Given the description of an element on the screen output the (x, y) to click on. 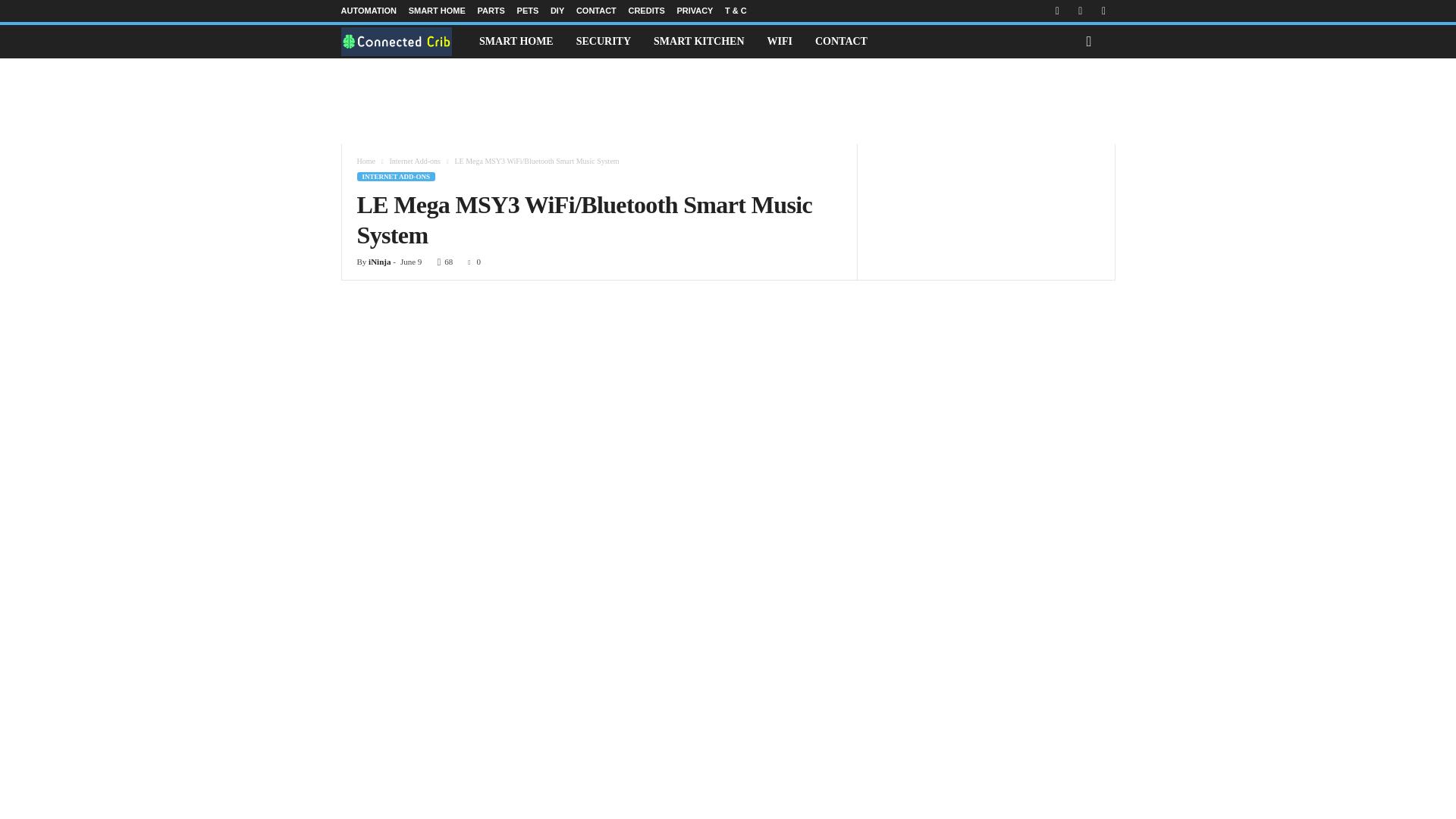
SMART HOME (437, 10)
DIY (557, 10)
PARTS (490, 10)
SMART HOME (515, 41)
PETS (527, 10)
AUTOMATION (368, 10)
CREDITS (645, 10)
PRIVACY (695, 10)
Connected Crib (404, 41)
CONTACT (595, 10)
